Given the description of an element on the screen output the (x, y) to click on. 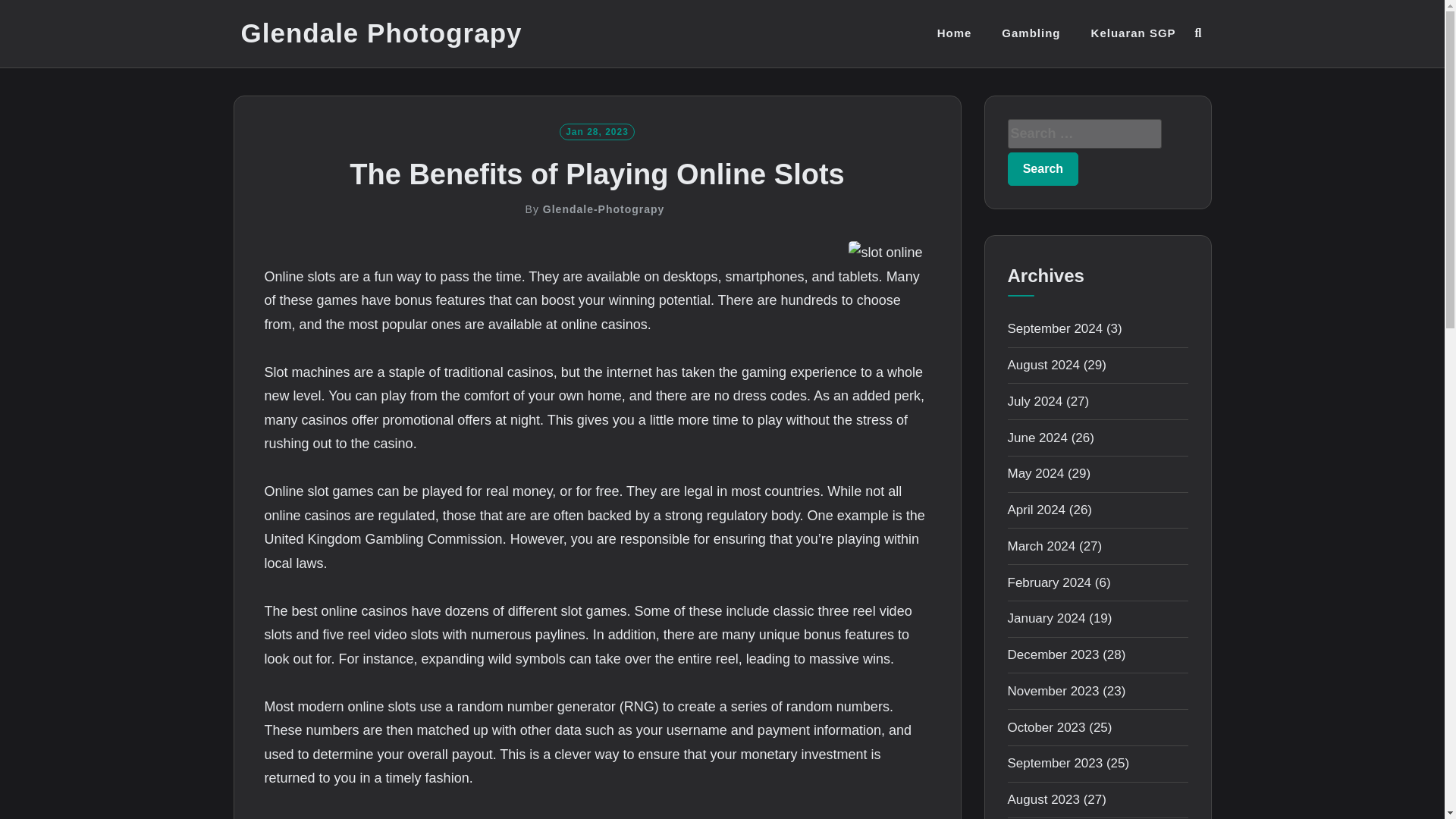
Search (1042, 168)
Search (1042, 168)
Keluaran SGP (1133, 33)
May 2024 (1035, 473)
August 2023 (1042, 799)
September 2024 (1054, 328)
March 2024 (1041, 545)
January 2024 (1045, 617)
July 2024 (1034, 400)
Search (1042, 168)
